Given the description of an element on the screen output the (x, y) to click on. 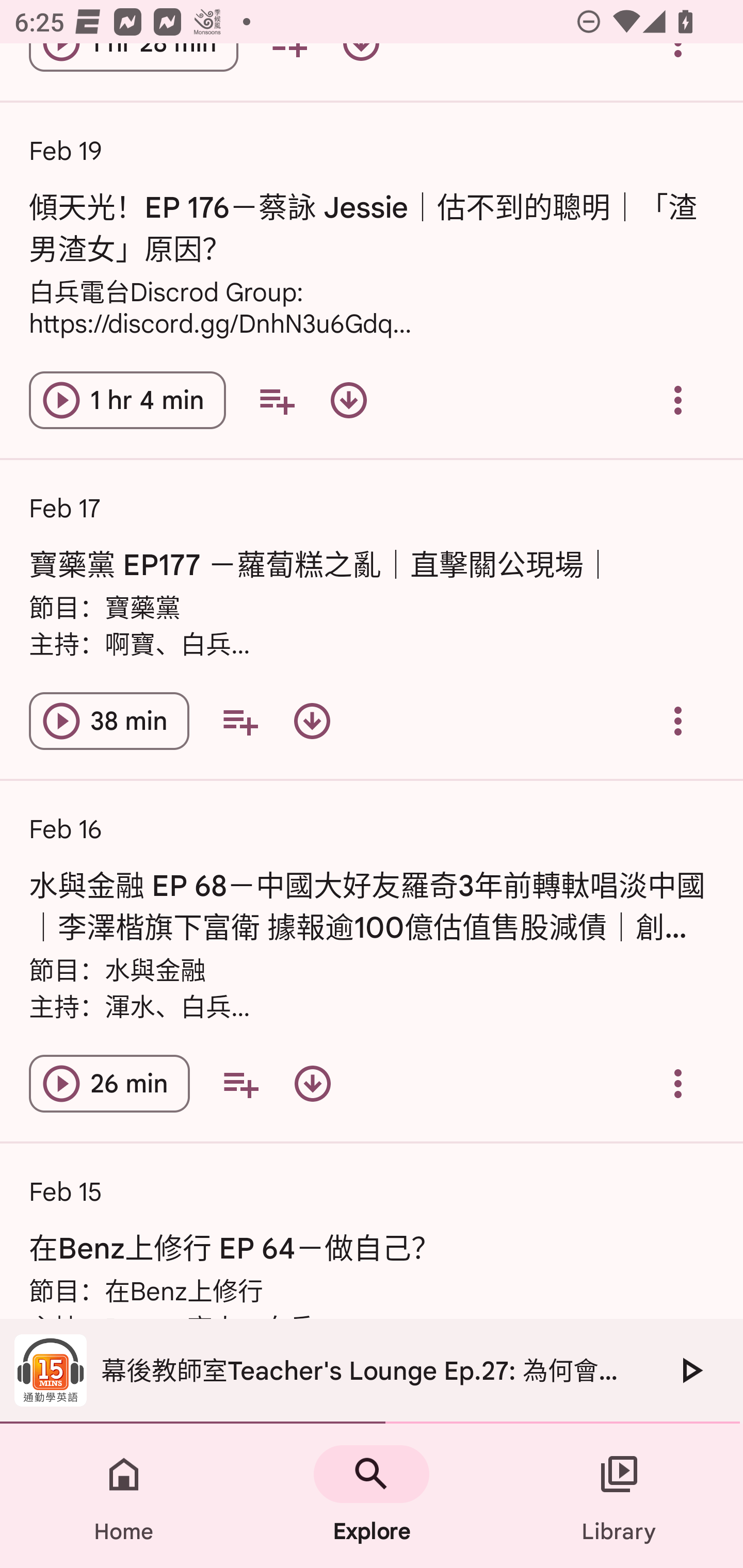
Add to your queue (276, 400)
Download episode (348, 400)
Overflow menu (677, 400)
Play episode 寶藥黨 EP177 －蘿蔔糕之亂｜直擊關公現場｜ 38 min (108, 721)
Add to your queue (239, 721)
Download episode (312, 721)
Overflow menu (677, 721)
Add to your queue (240, 1083)
Download episode (312, 1083)
Overflow menu (677, 1083)
Play (690, 1370)
Home (123, 1495)
Library (619, 1495)
